Given the description of an element on the screen output the (x, y) to click on. 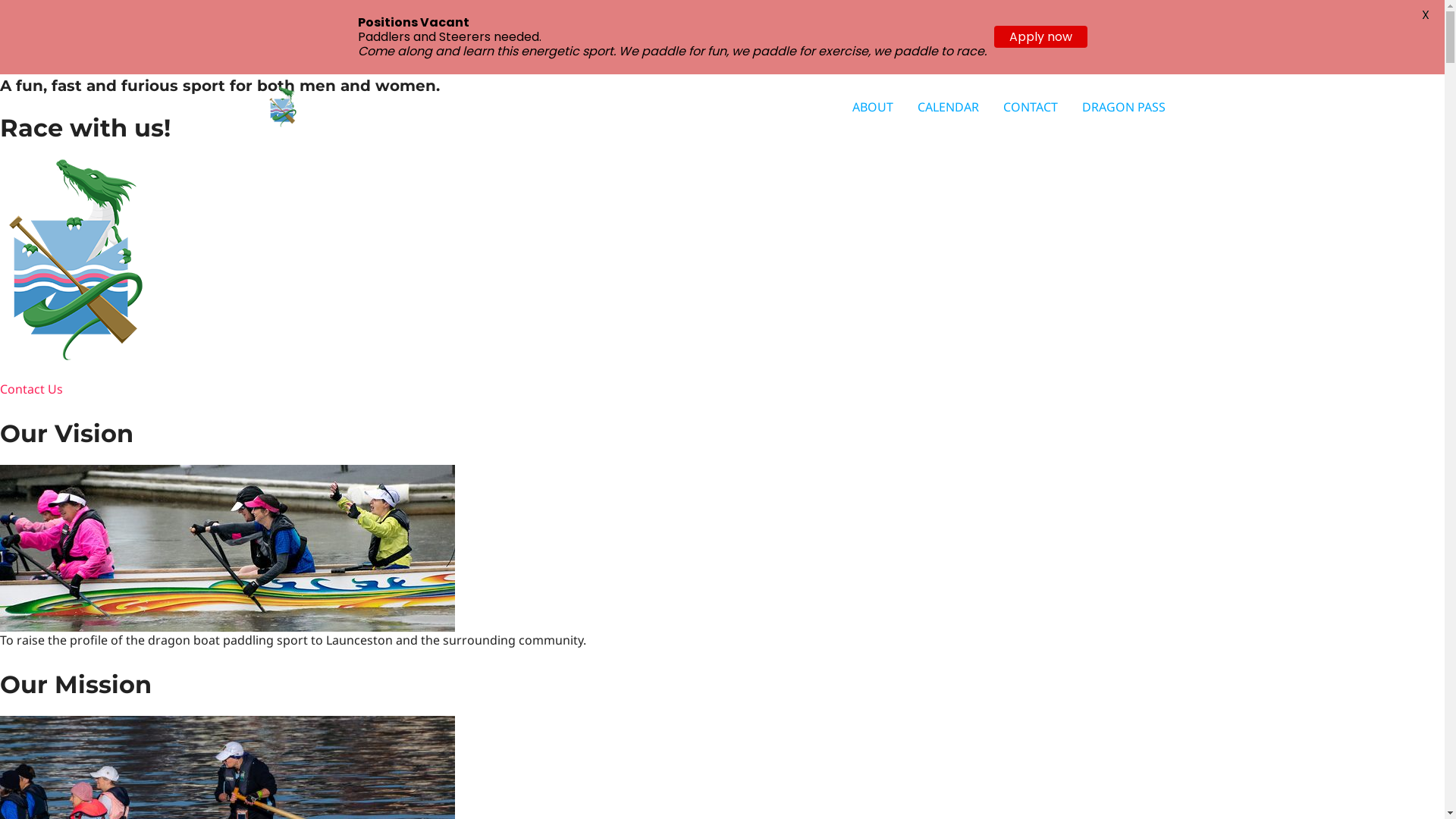
DRAGON PASS Element type: text (1122, 106)
HOME Element type: text (808, 106)
CALENDAR Element type: text (948, 106)
Apply now Element type: text (1039, 36)
North Esk Dragon Boat Club Element type: text (444, 105)
ABOUT Element type: text (872, 106)
CONTACT Element type: text (1029, 106)
Contact Us Element type: text (31, 397)
About_Us_Gallery_Image_4_600x220 Element type: hover (227, 547)
